Given the description of an element on the screen output the (x, y) to click on. 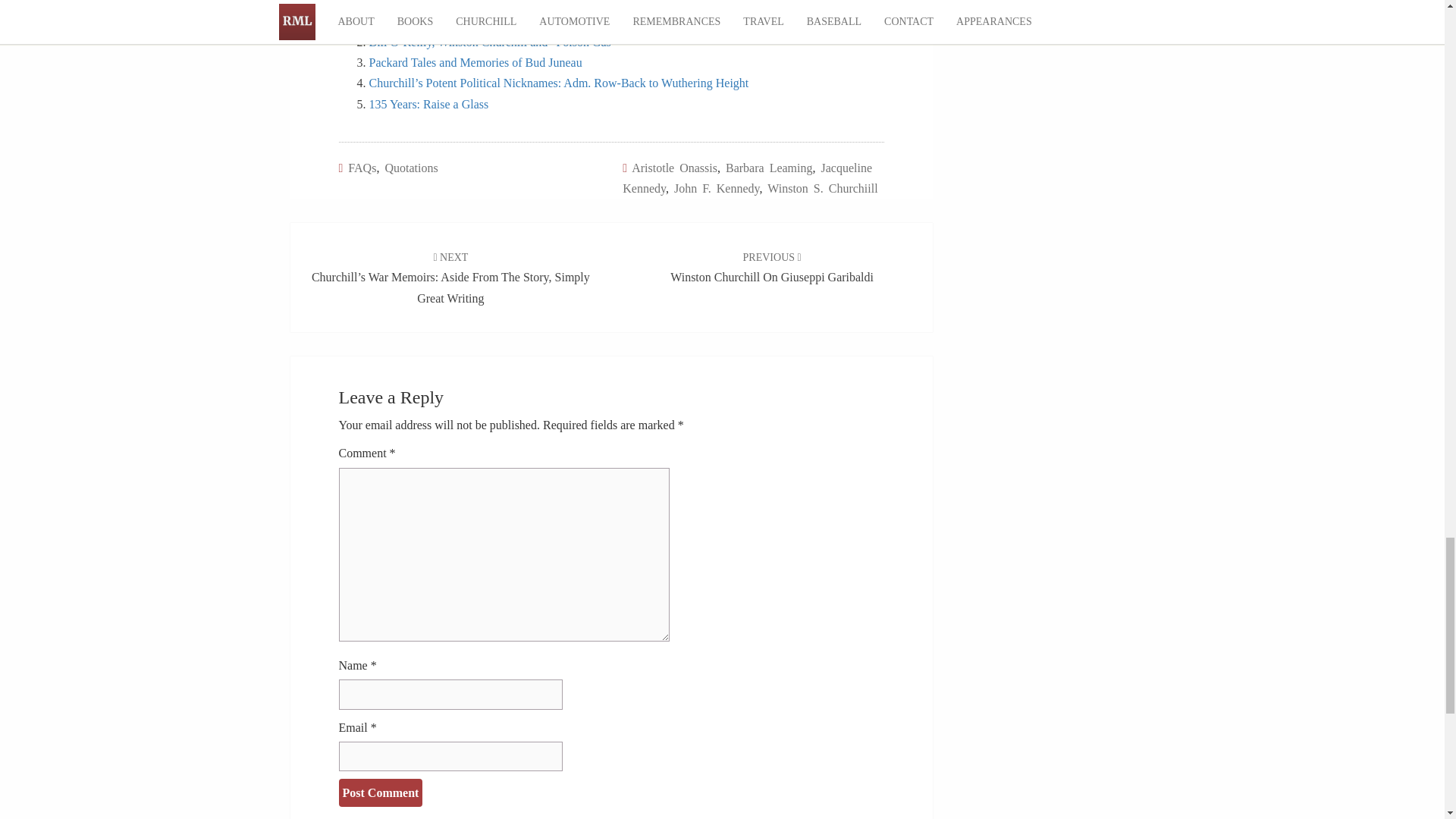
Churchill and the Avoidable War: Outline (469, 21)
Packard Tales and Memories of Bud Juneau (474, 62)
Post Comment (379, 792)
